Given the description of an element on the screen output the (x, y) to click on. 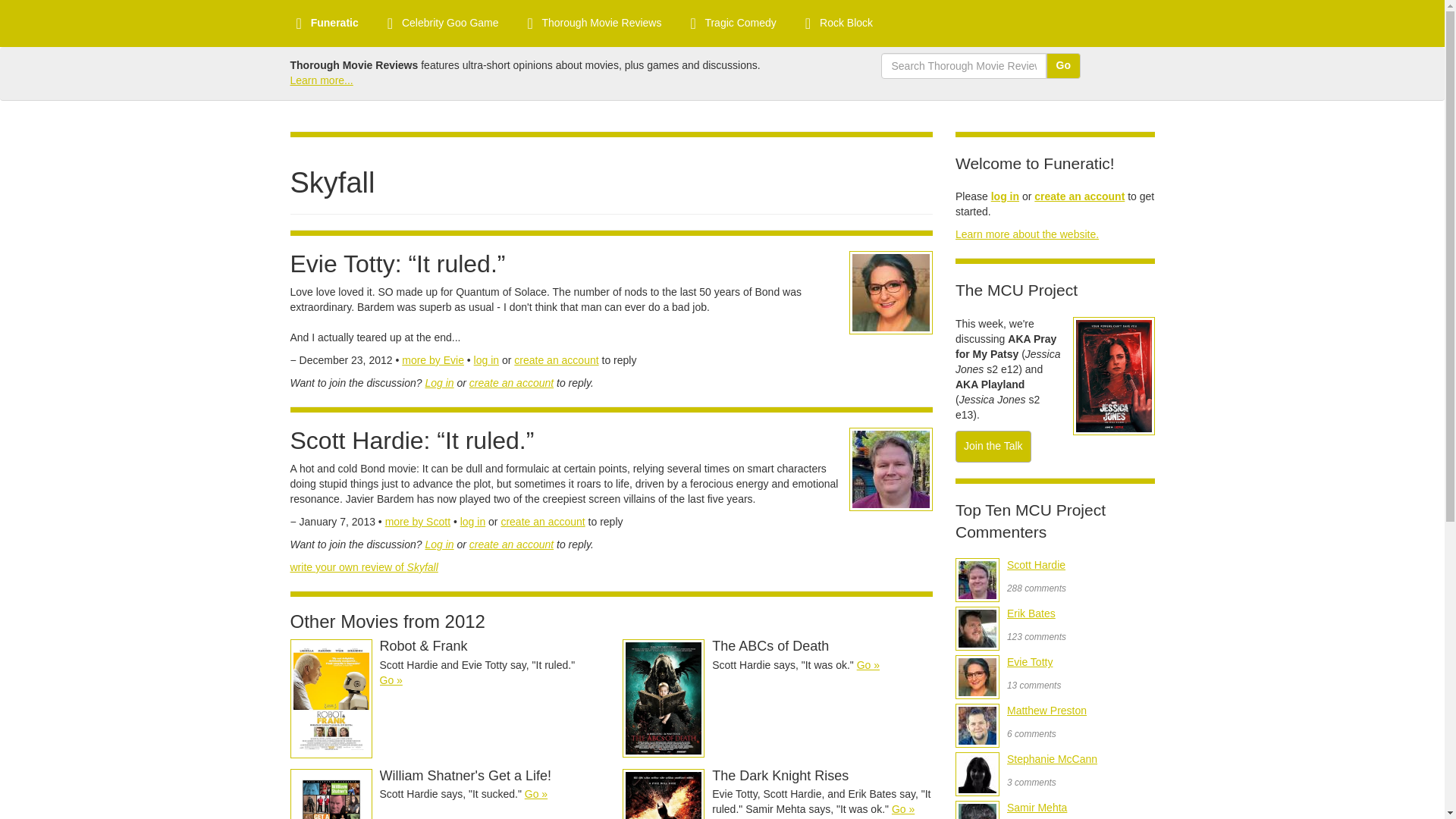
Thorough Movie Reviews (591, 23)
Funeratic (324, 23)
Celebrity Goo Game (440, 23)
